Given the description of an element on the screen output the (x, y) to click on. 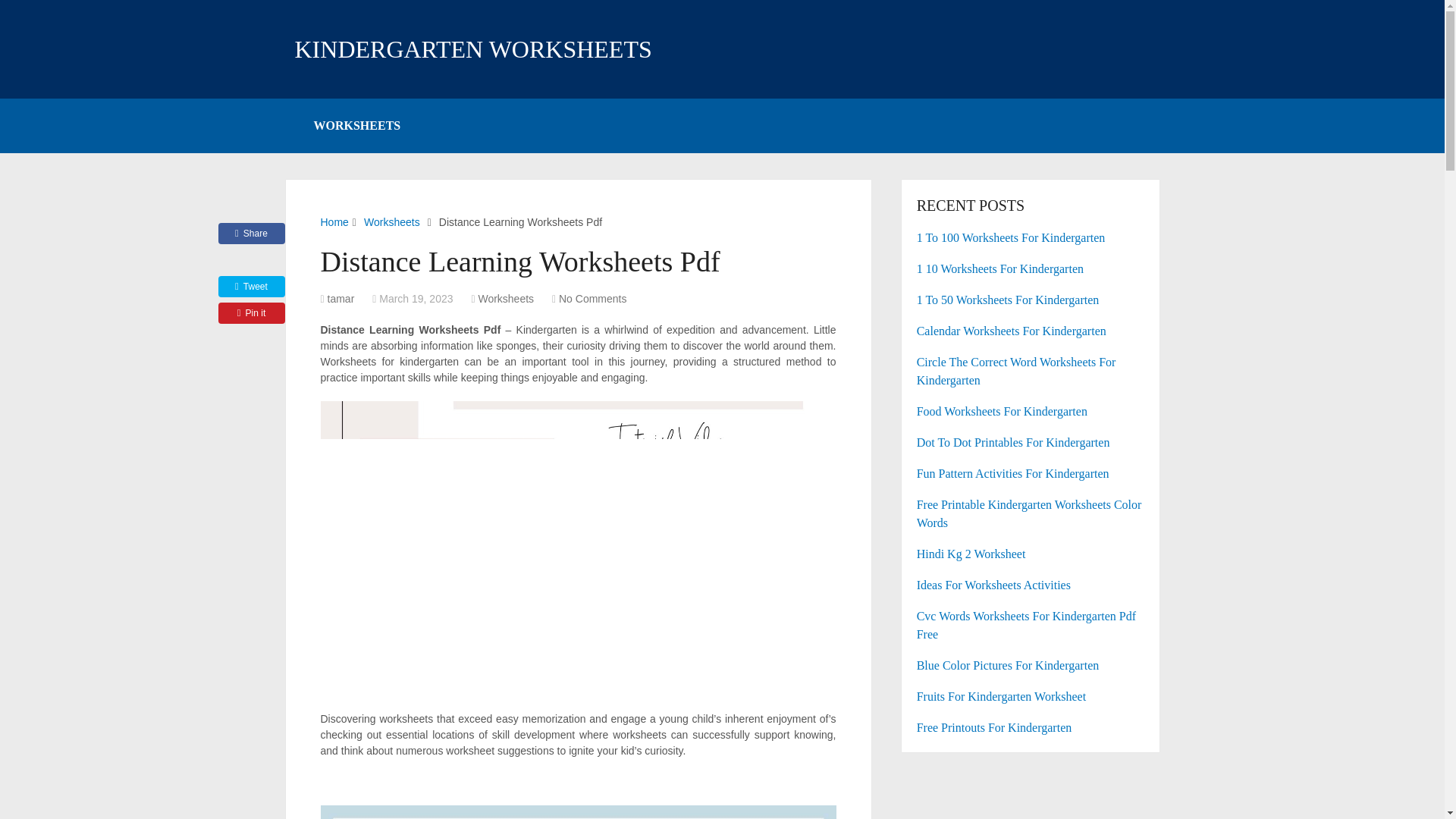
No Comments (592, 298)
Worksheets (505, 298)
tamar (341, 298)
Fun Pattern Activities For Kindergarten (1030, 474)
Hindi Kg 2 Worksheet (1030, 554)
Calendar Worksheets For Kindergarten (1030, 331)
Home (333, 222)
Fruits For Kindergarten Worksheet (1030, 696)
WORKSHEETS (356, 125)
Ideas For Worksheets Activities (1030, 585)
